Given the description of an element on the screen output the (x, y) to click on. 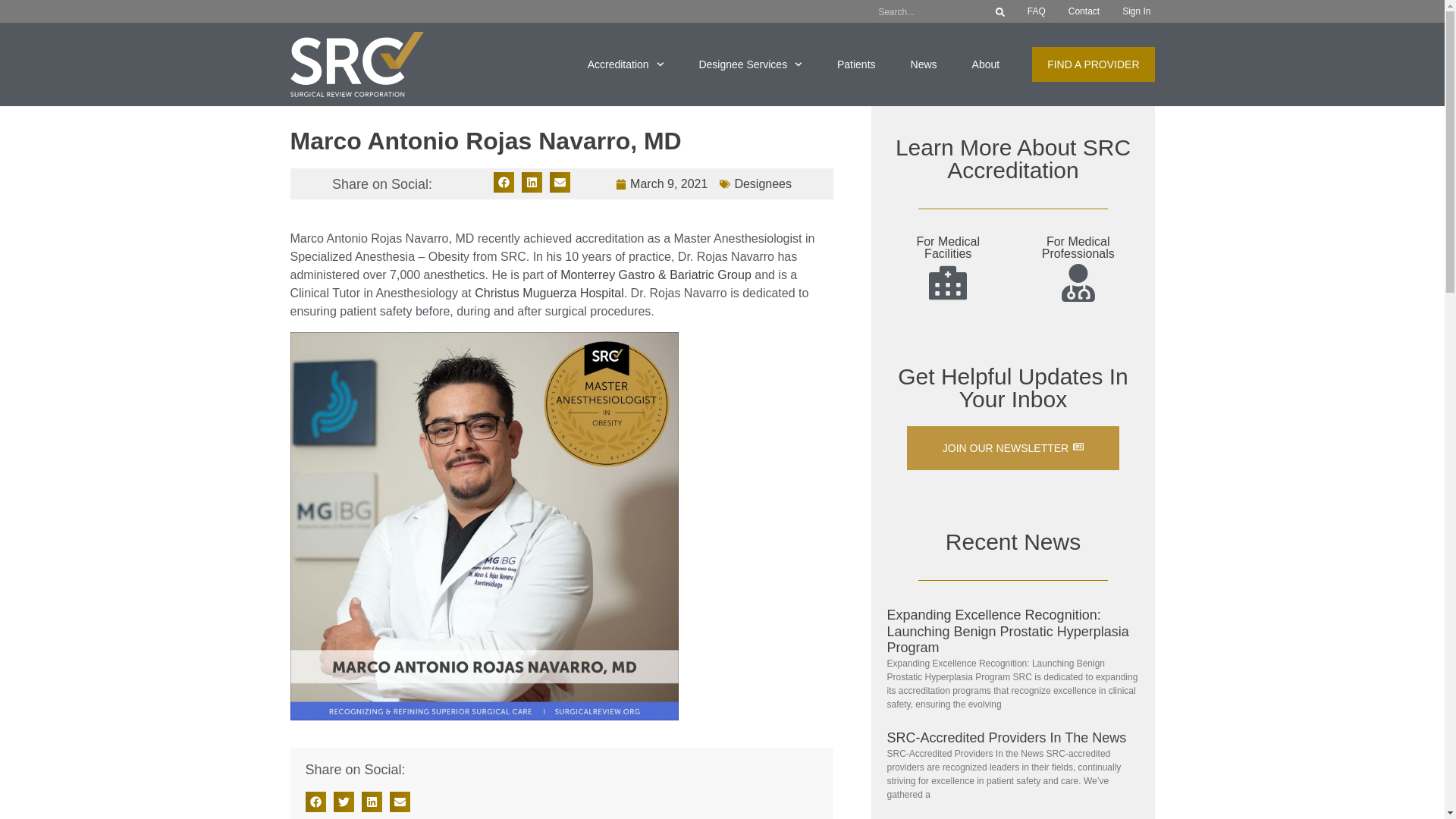
Designee Services (750, 64)
Contact (1083, 11)
FAQ (1036, 11)
Accreditation (625, 64)
About (986, 64)
Christus Muguerza Hospital (549, 292)
Designees (1078, 247)
News (762, 183)
About Surgical Review Corporation (924, 64)
March 9, 2021 (986, 64)
Patients (661, 183)
FIND A PROVIDER (856, 64)
Sign In (1093, 64)
